Given the description of an element on the screen output the (x, y) to click on. 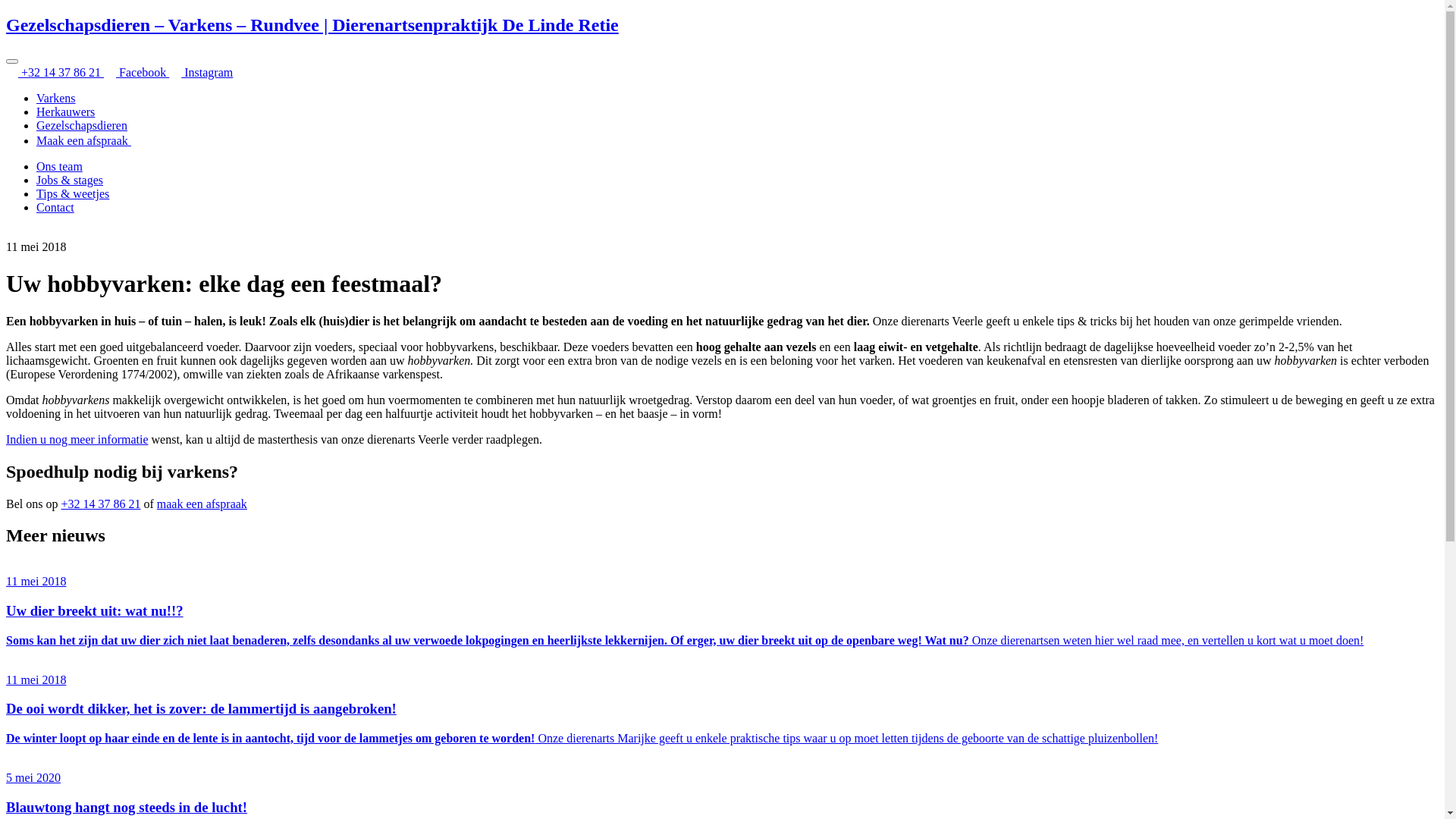
Jobs & stages Element type: text (69, 179)
Ons team Element type: text (59, 166)
maak een afspraak Element type: text (201, 503)
Varkens Element type: text (55, 97)
Indien u nog meer informatie Element type: text (77, 439)
+32 14 37 86 21 Element type: text (100, 503)
Instagram Element type: text (200, 71)
Maak een afspraak Element type: text (89, 140)
Tips & weetjes Element type: text (72, 193)
Facebook Element type: text (136, 71)
Herkauwers Element type: text (65, 111)
+32 14 37 86 21 Element type: text (54, 71)
Contact Element type: text (55, 206)
Gezelschapsdieren Element type: text (81, 125)
